Given the description of an element on the screen output the (x, y) to click on. 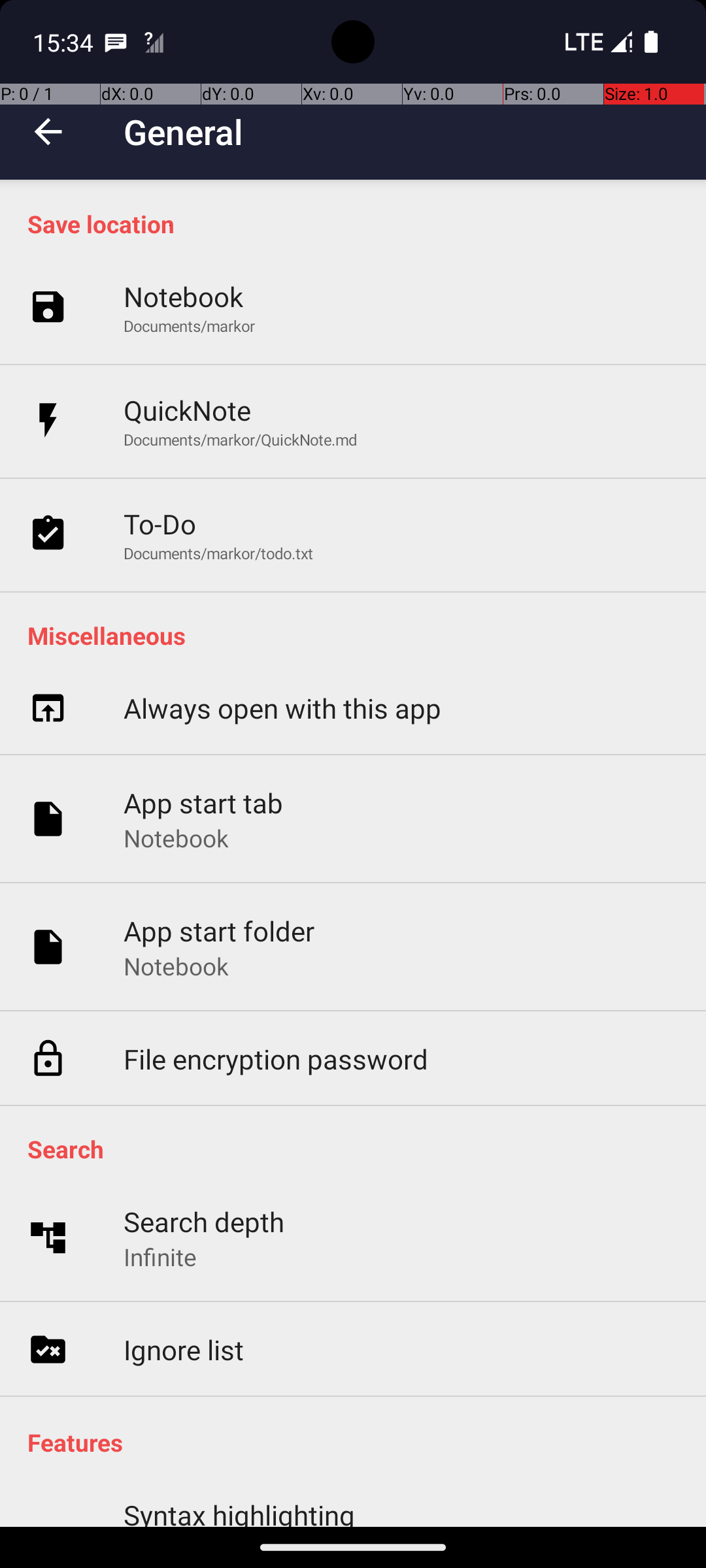
Save location Element type: android.widget.TextView (359, 223)
Features Element type: android.widget.TextView (359, 1441)
Notebook Element type: android.widget.TextView (183, 295)
Documents/markor Element type: android.widget.TextView (188, 325)
Documents/markor/QuickNote.md Element type: android.widget.TextView (239, 439)
Documents/markor/todo.txt Element type: android.widget.TextView (218, 552)
Always open with this app Element type: android.widget.TextView (282, 707)
App start tab Element type: android.widget.TextView (203, 802)
App start folder Element type: android.widget.TextView (219, 930)
File encryption password Element type: android.widget.TextView (275, 1058)
Search depth Element type: android.widget.TextView (203, 1221)
Infinite Element type: android.widget.TextView (159, 1256)
Ignore list Element type: android.widget.TextView (183, 1349)
Syntax highlighting Element type: android.widget.TextView (238, 1511)
